Given the description of an element on the screen output the (x, y) to click on. 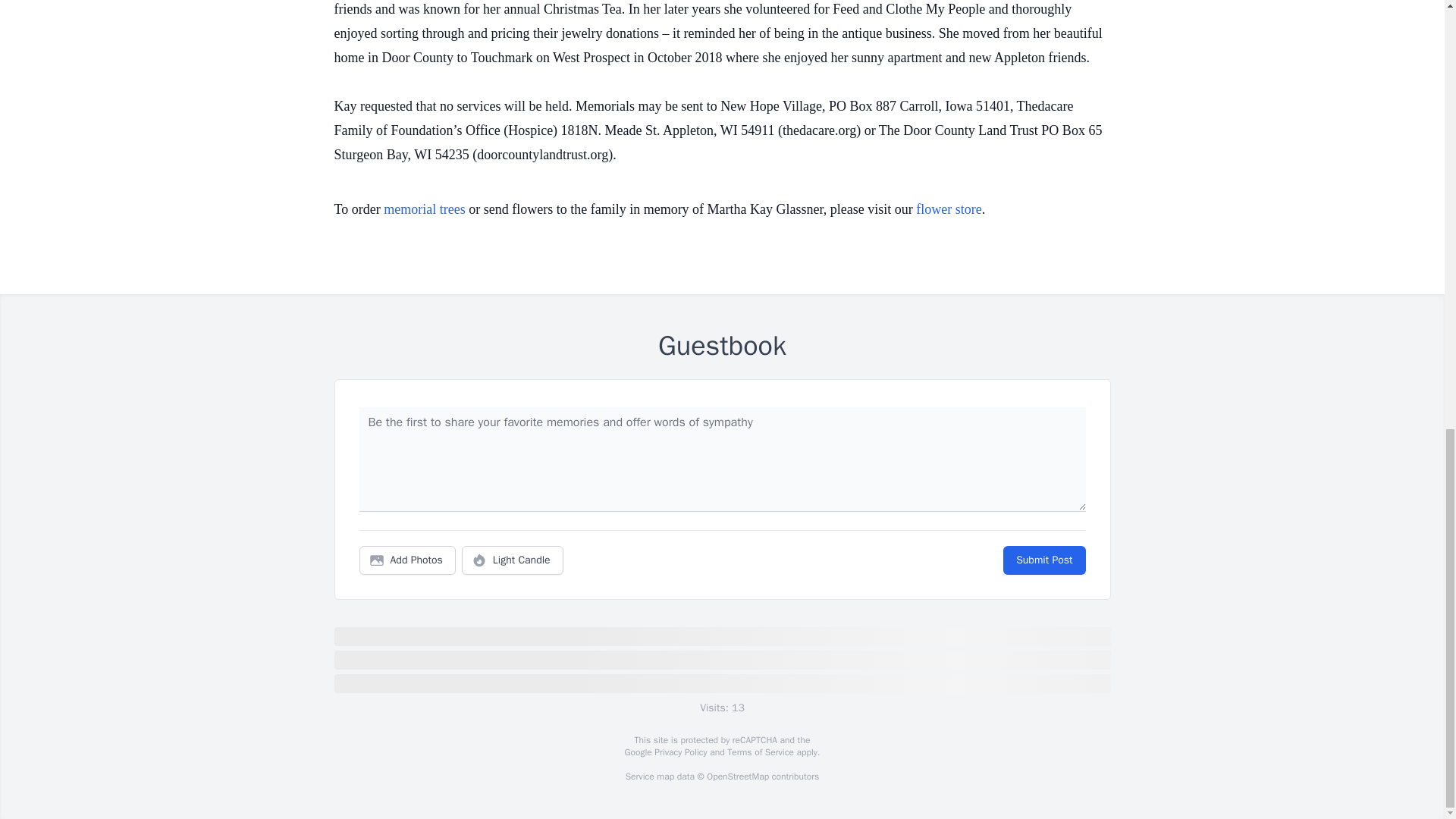
Privacy Policy (679, 752)
Add Photos (407, 560)
flower store (948, 209)
OpenStreetMap (737, 776)
Submit Post (1043, 560)
memorial trees (424, 209)
Light Candle (512, 560)
Terms of Service (759, 752)
